Given the description of an element on the screen output the (x, y) to click on. 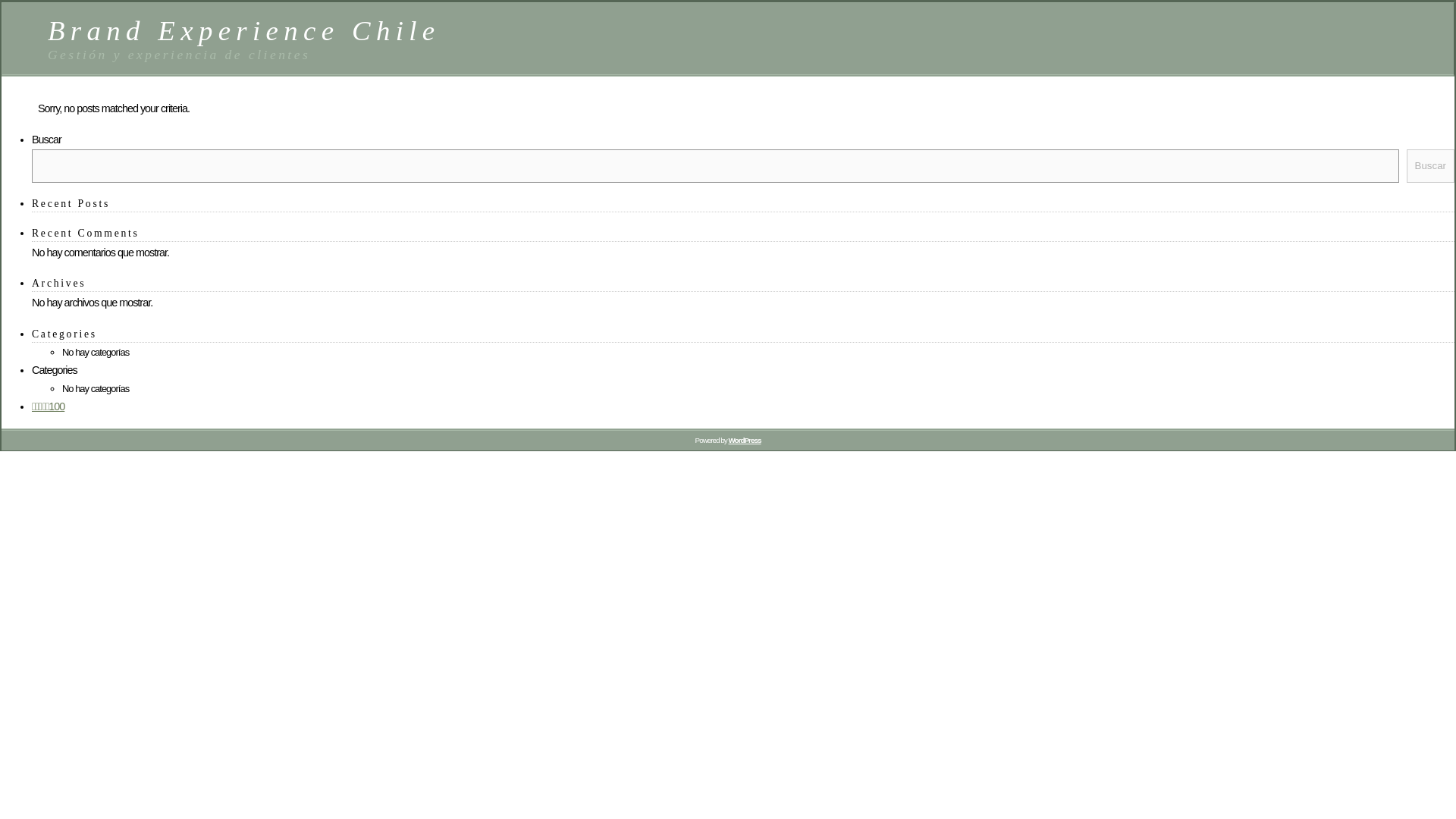
Brand Experience Chile (244, 30)
WordPress (744, 439)
